Given the description of an element on the screen output the (x, y) to click on. 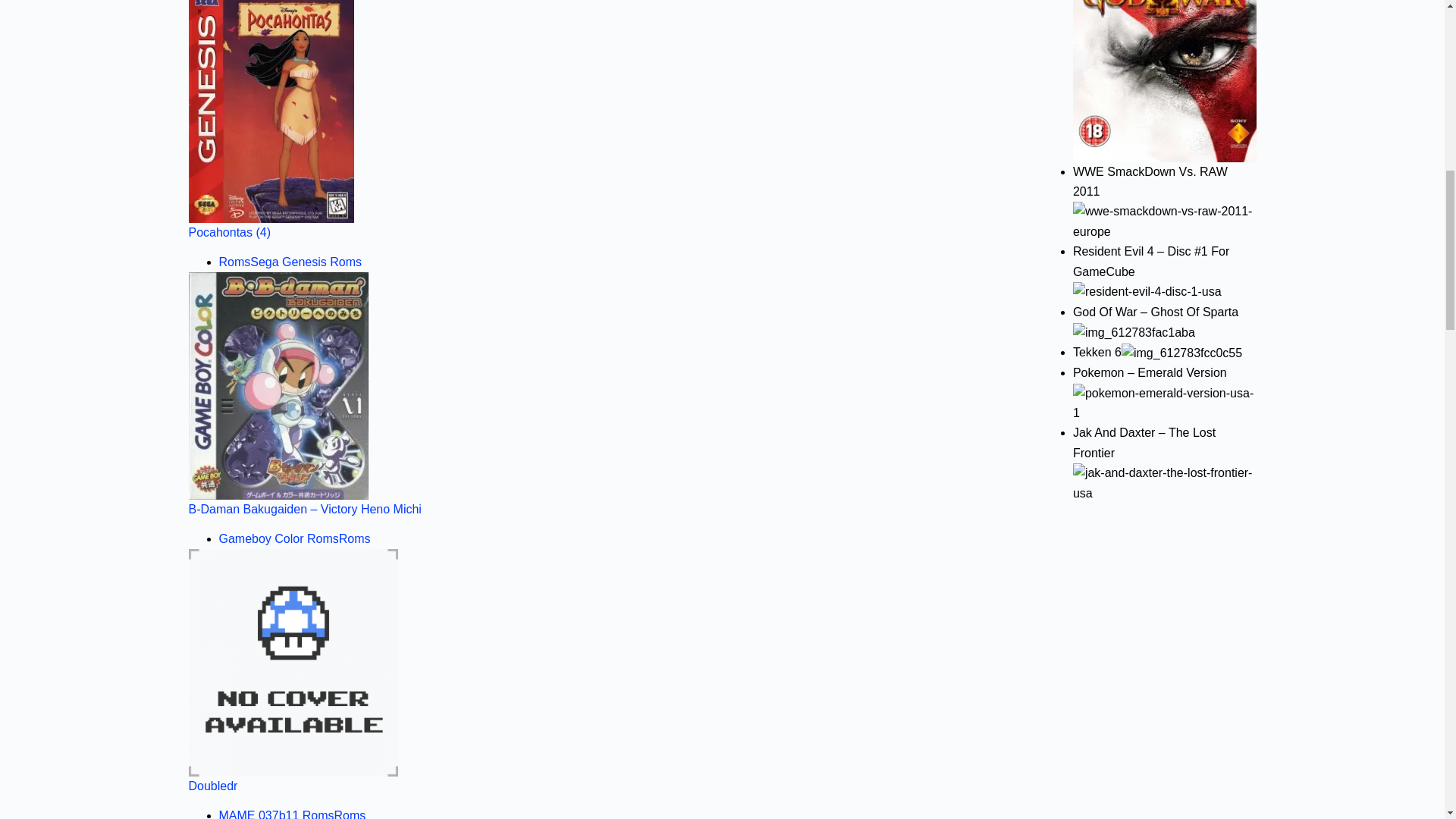
WWE SmackDown Vs. RAW 2011 (1164, 221)
Jak And Daxter - The Lost Frontier (1164, 483)
God of War III PS3 (1164, 81)
Pokemon - Emerald Version (1164, 404)
God Of War - Ghost Of Sparta (1134, 332)
Tekken 6 (1181, 353)
